Given the description of an element on the screen output the (x, y) to click on. 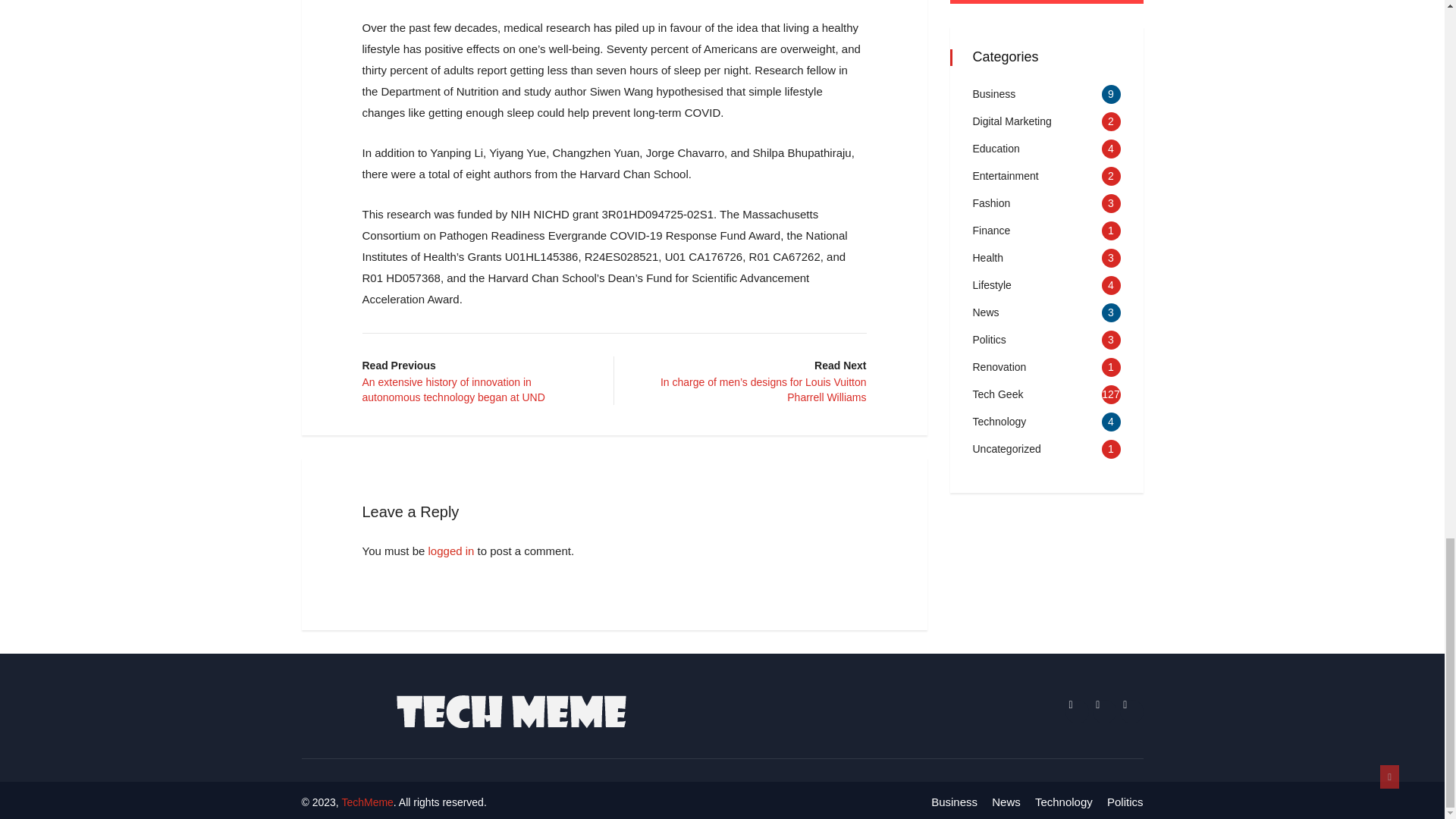
logged in (451, 550)
